Given the description of an element on the screen output the (x, y) to click on. 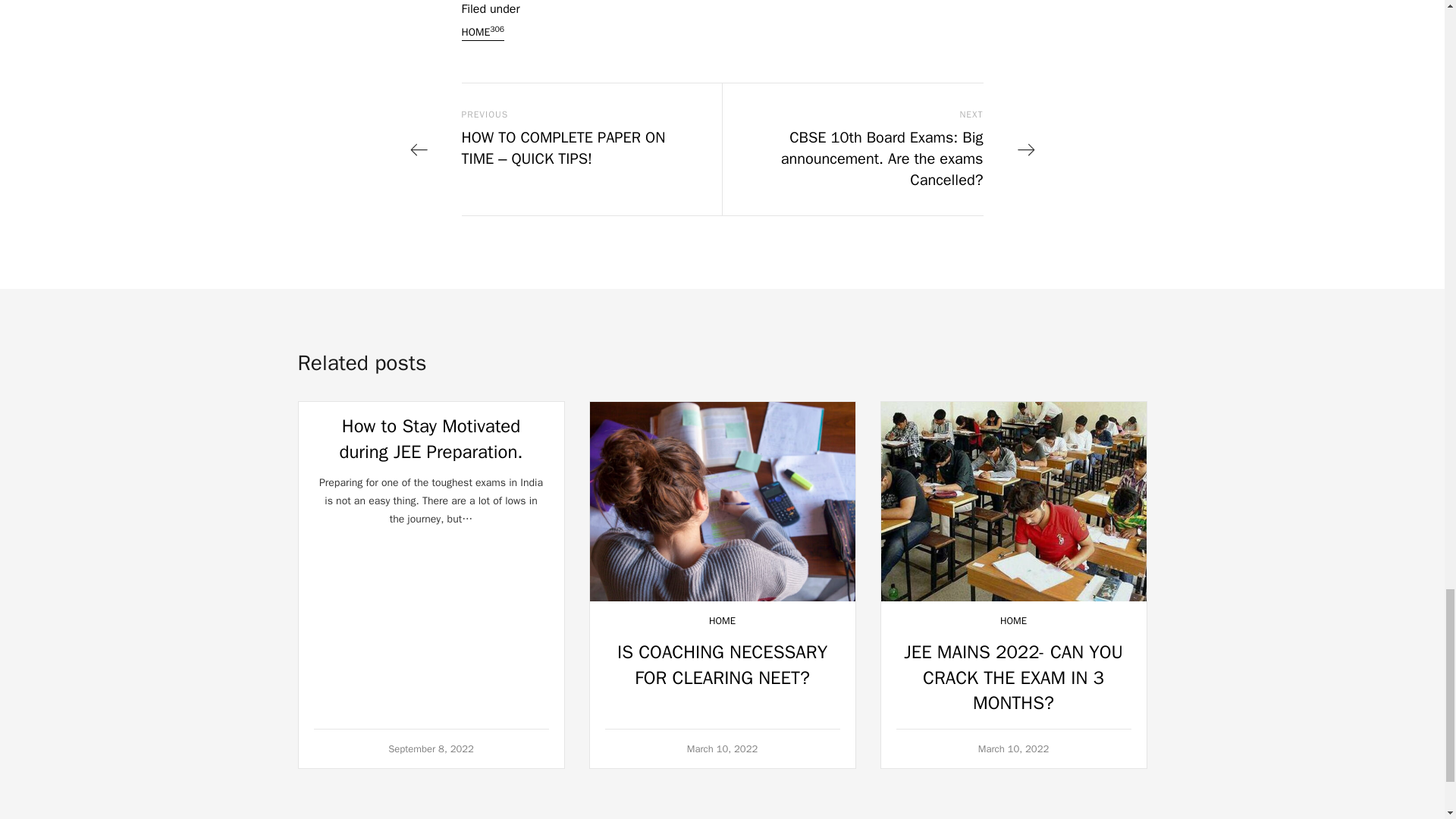
View all posts in home (722, 620)
September 8, 2022 (431, 748)
March 10, 2022 (1013, 748)
HOME306 (482, 32)
How to Stay Motivated during JEE Preparation. (430, 438)
March 10, 2022 (722, 748)
View all posts in home (482, 32)
HOME (1013, 620)
JEE MAINS 2022- CAN YOU CRACK THE EXAM IN 3 MONTHS? (1013, 677)
HOME (722, 620)
IS COACHING NECESSARY FOR CLEARING NEET? (722, 664)
View all posts in home (1013, 620)
